Given the description of an element on the screen output the (x, y) to click on. 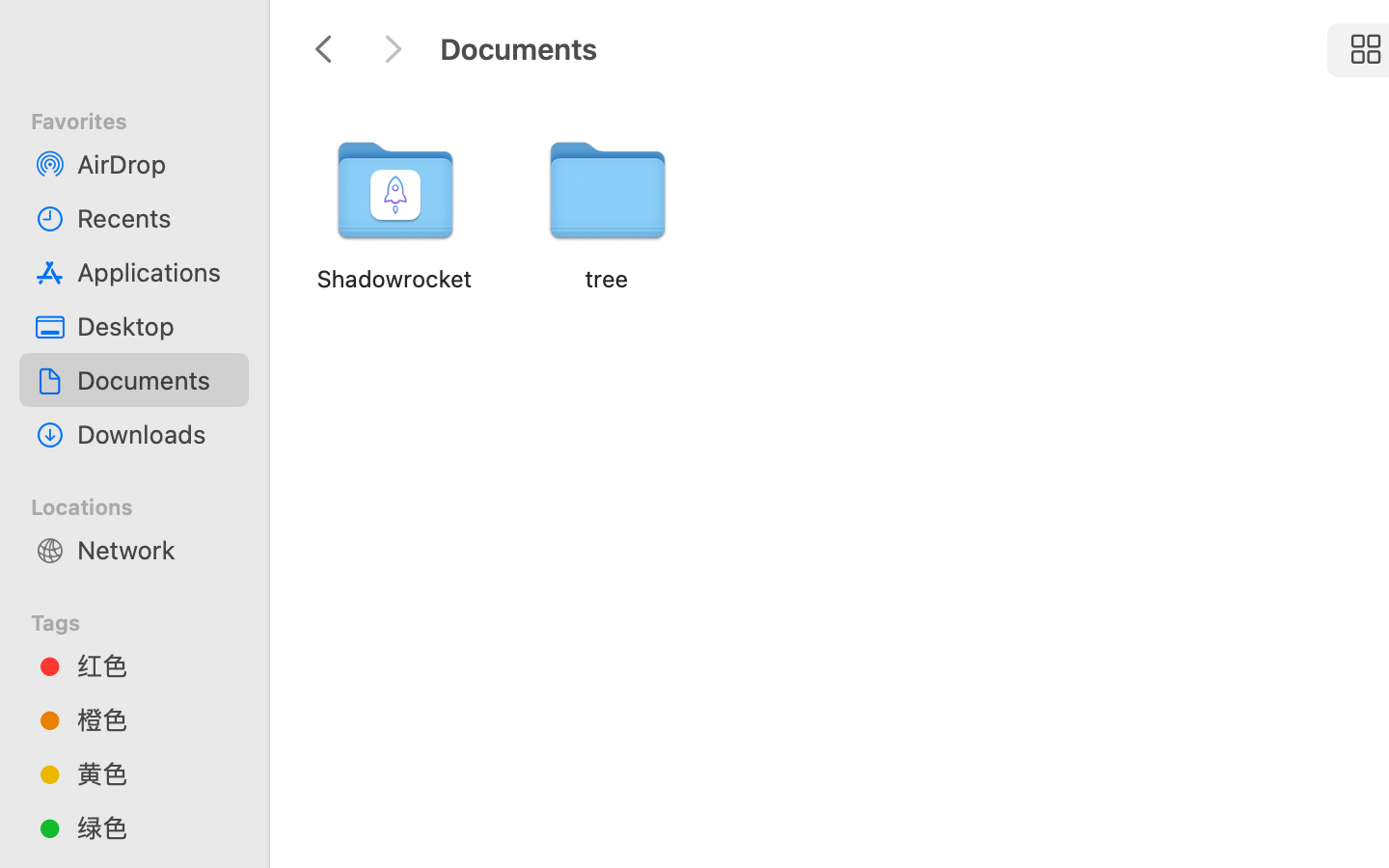
Downloads Element type: AXStaticText (155, 433)
绿色 Element type: AXStaticText (155, 827)
Recents Element type: AXStaticText (155, 217)
黄色 Element type: AXStaticText (155, 773)
红色 Element type: AXStaticText (155, 665)
